Given the description of an element on the screen output the (x, y) to click on. 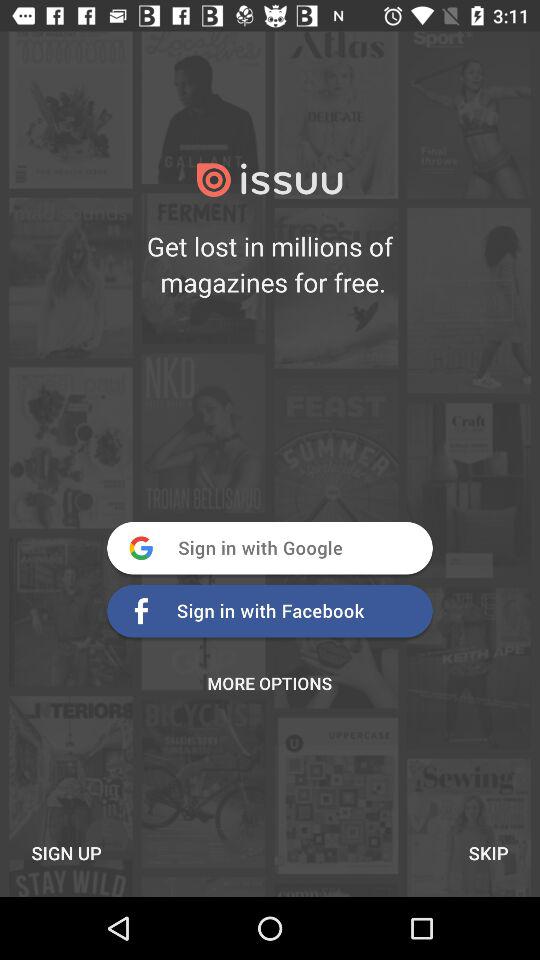
swipe to sign up item (66, 852)
